Given the description of an element on the screen output the (x, y) to click on. 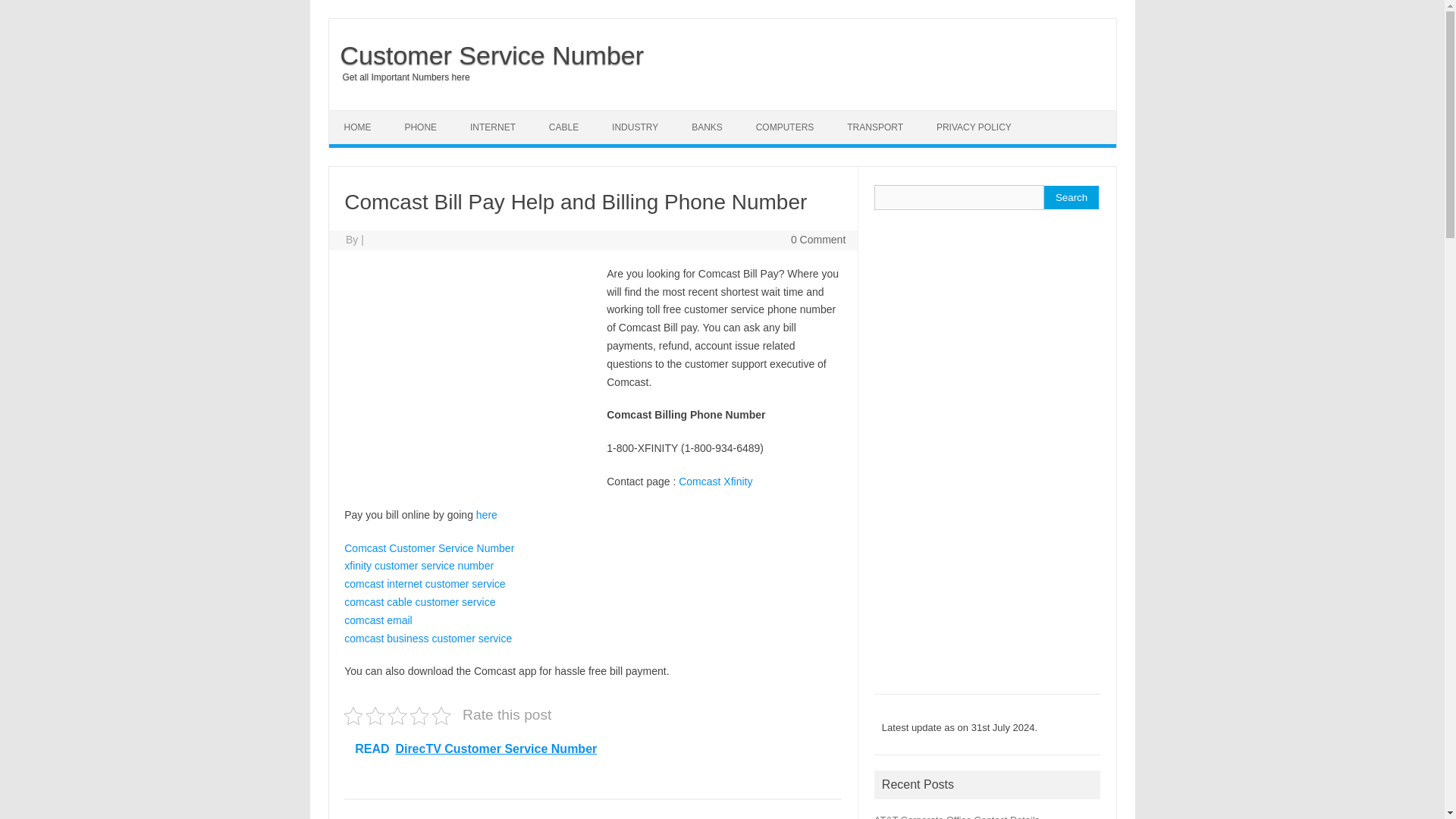
comcast internet customer service (424, 583)
PHONE (419, 127)
INTERNET (492, 127)
INDUSTRY (634, 127)
READ  DirecTV Customer Service Number (592, 748)
comcast email (377, 620)
COMPUTERS (785, 127)
Customer Service Number (487, 54)
TRANSPORT (874, 127)
Comcast Xfinity (715, 481)
Search (1070, 197)
Advertisement (474, 375)
BANKS (707, 127)
Comcast Customer Service Number (428, 548)
Customer Service Number (487, 54)
